Given the description of an element on the screen output the (x, y) to click on. 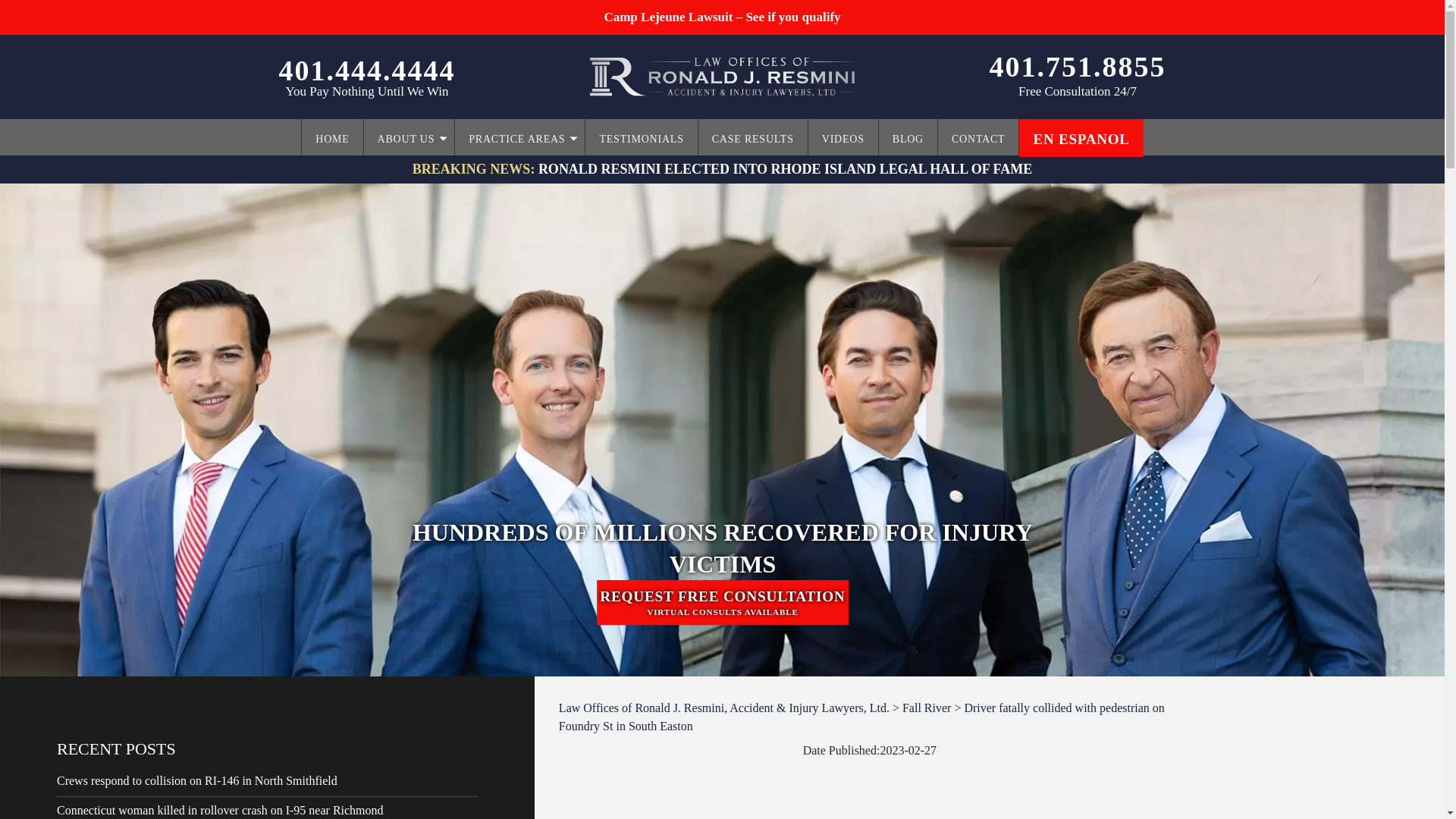
401.751.8855 (1077, 66)
SKIP TO CONTENT (342, 129)
HOME (331, 137)
401.444.4444 (367, 70)
ABOUT US (409, 137)
PRACTICE AREAS (519, 137)
Go to the Fall River Category archives. (926, 707)
